Given the description of an element on the screen output the (x, y) to click on. 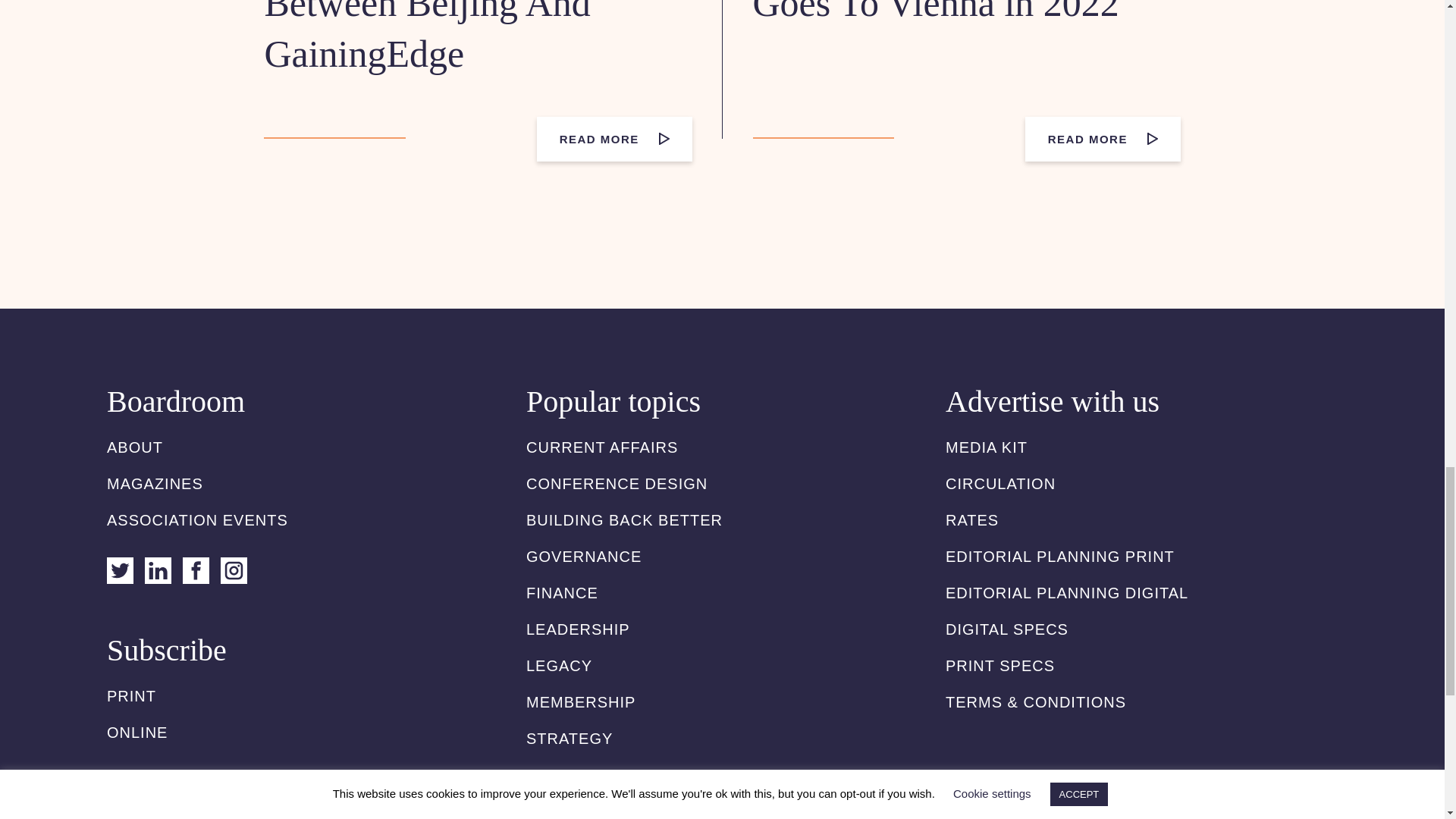
READ MORE (615, 139)
READ MORE (1102, 139)
ABOUT (134, 446)
MAGAZINES (154, 483)
ASSOCIATION EVENTS (197, 519)
PCMA Convening EMEA Goes To Vienna in 2022 (950, 12)
New Collaboration Between Beijing And GainingEdge (427, 37)
